Given the description of an element on the screen output the (x, y) to click on. 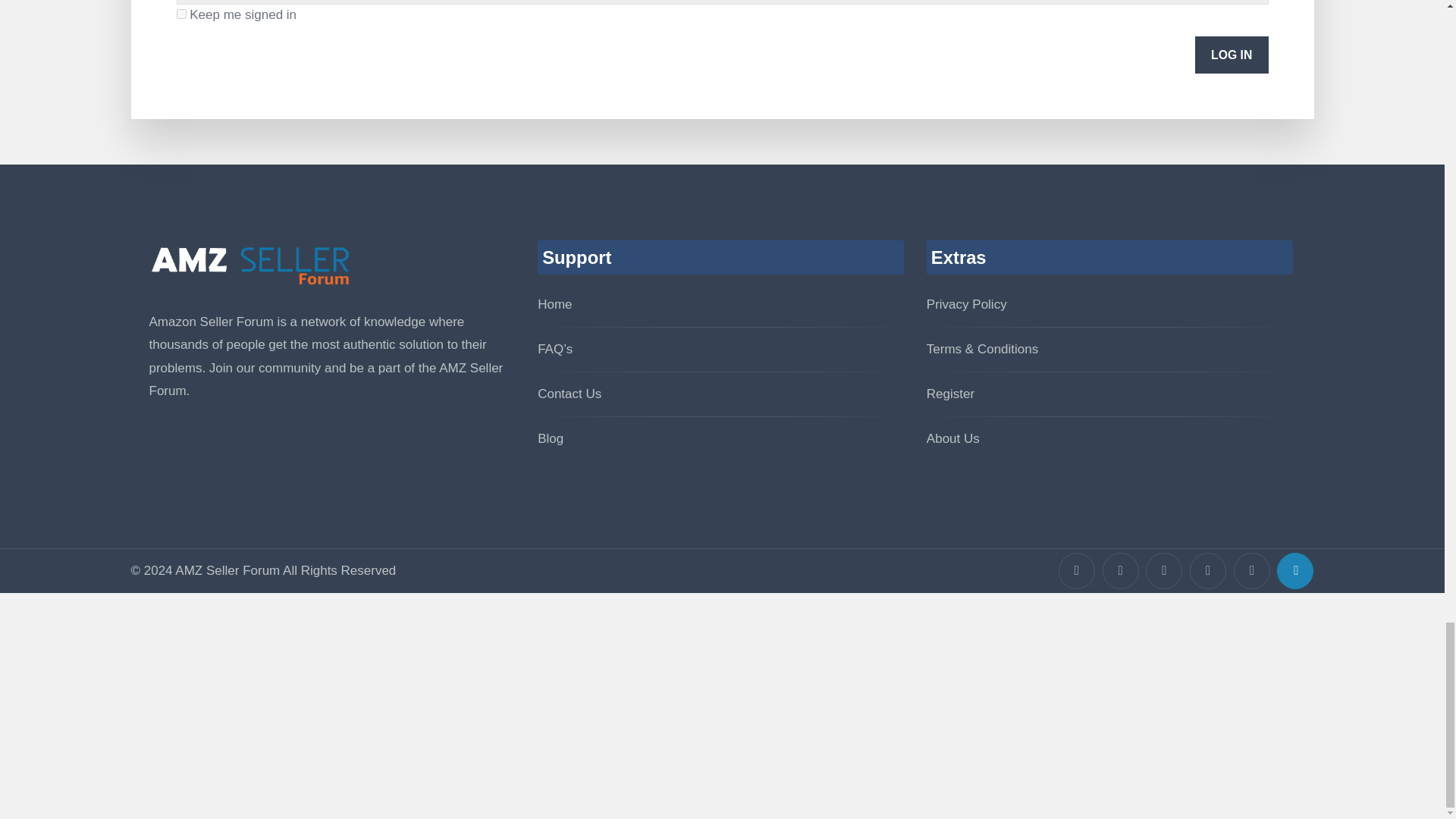
LOG IN (1231, 54)
forever (181, 13)
Home (554, 304)
